Given the description of an element on the screen output the (x, y) to click on. 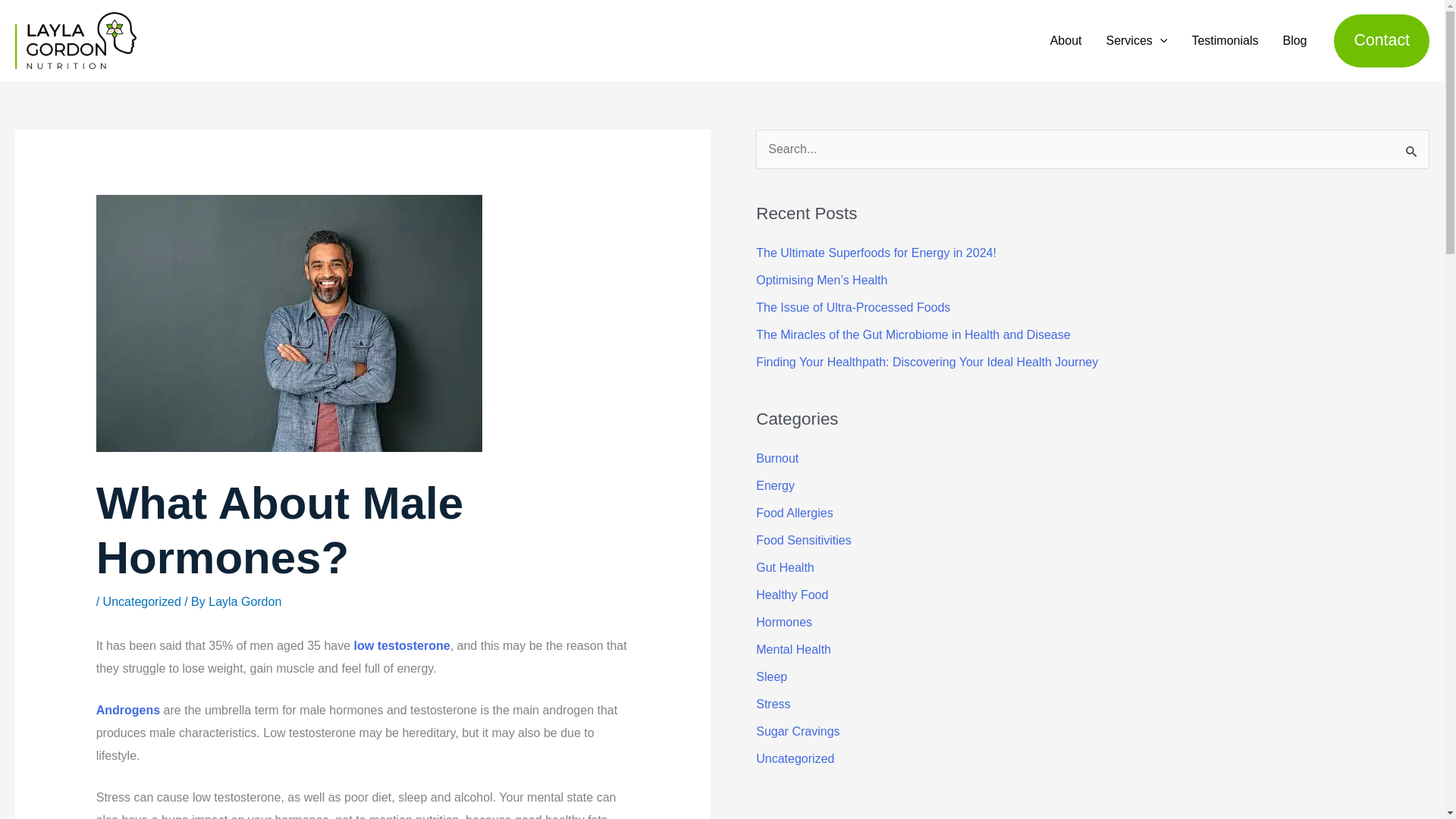
Burnout (776, 458)
low testosterone (401, 645)
The Issue of Ultra-Processed Foods (852, 307)
Blog (1294, 40)
Search (1411, 150)
Contact (1381, 40)
View all posts by Layla Gordon (244, 601)
About (1066, 40)
The Ultimate Superfoods for Energy in 2024! (875, 252)
Search (1411, 150)
Uncategorized (141, 601)
Androgens (128, 709)
Services (1136, 40)
Testimonials (1224, 40)
